Given the description of an element on the screen output the (x, y) to click on. 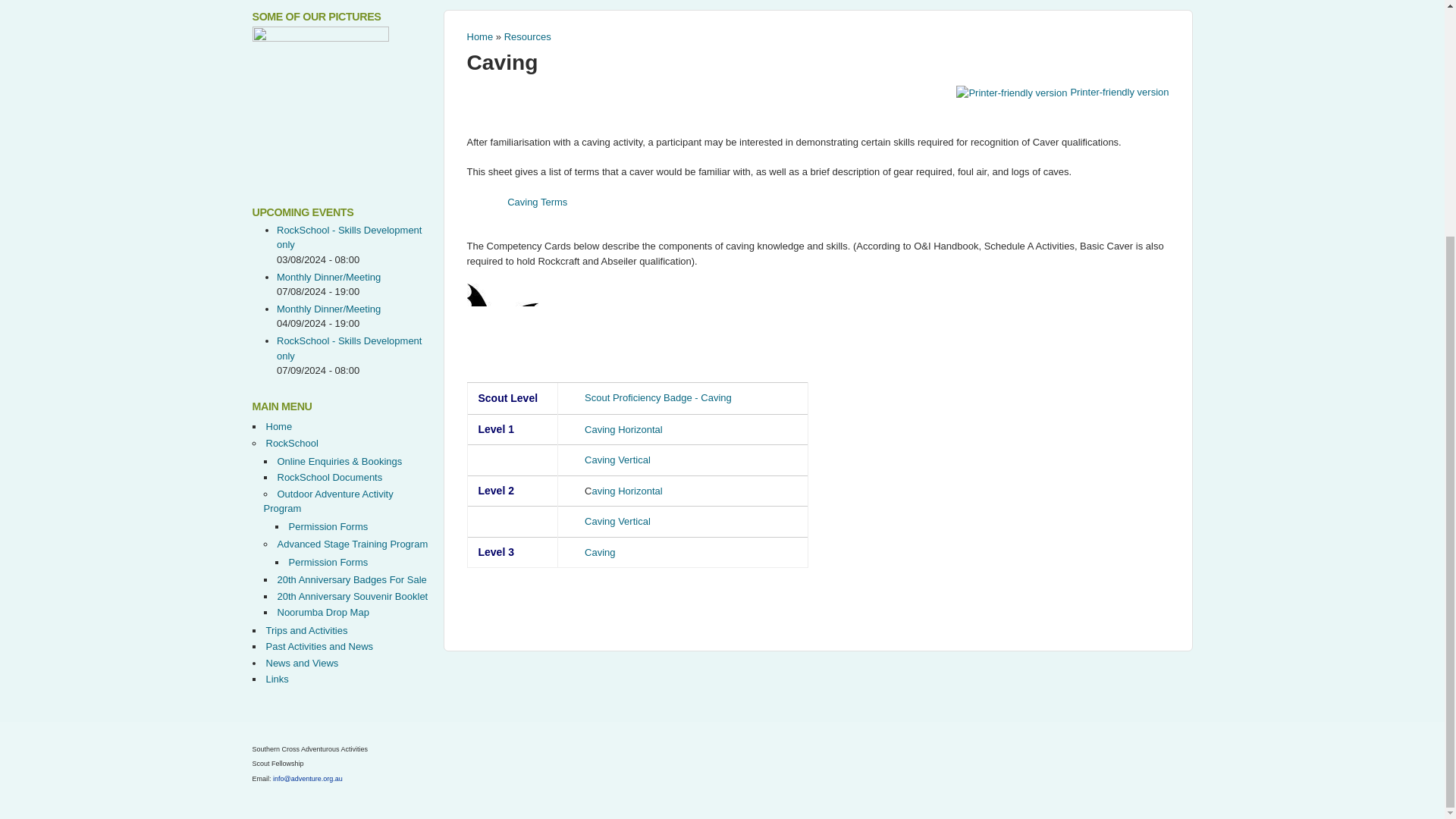
Resources (527, 36)
Caving (502, 61)
Printer-friendly version (1062, 91)
Log in (833, 154)
Home (480, 36)
